Given the description of an element on the screen output the (x, y) to click on. 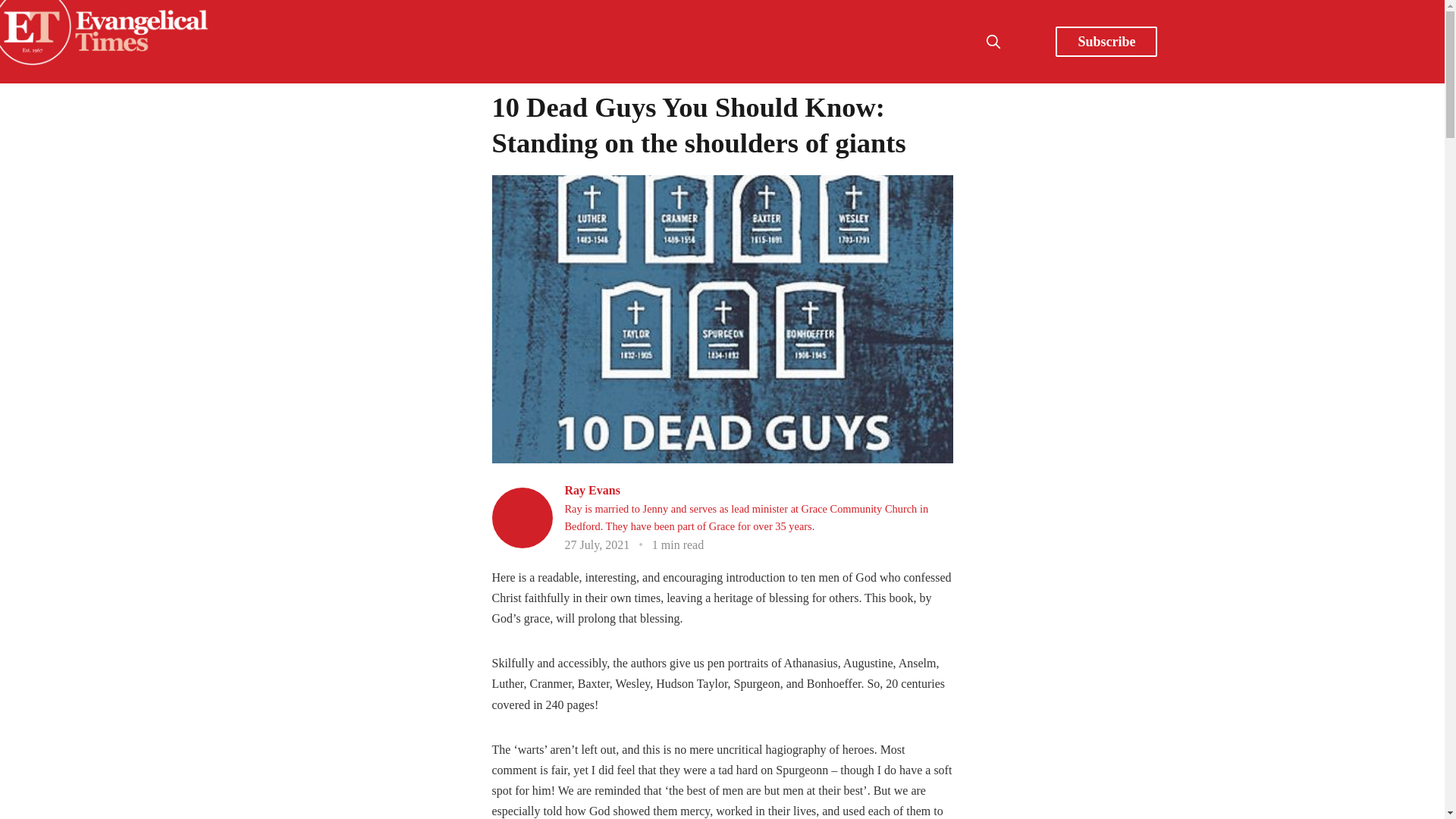
Ray Evans (592, 490)
Subscribe (1106, 41)
Open Menu (1026, 41)
